Given the description of an element on the screen output the (x, y) to click on. 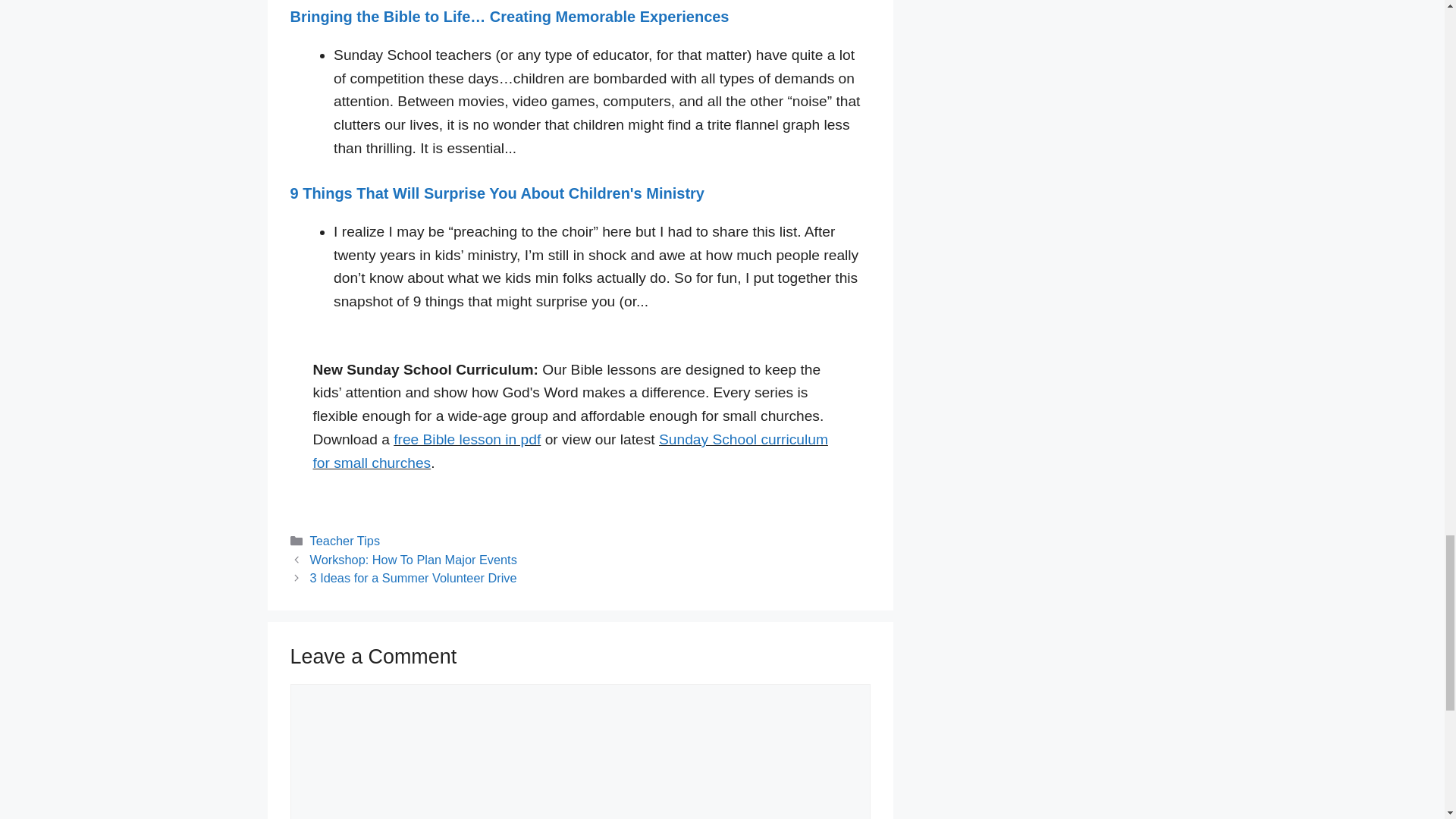
3 Ideas for a Summer Volunteer Drive (413, 577)
Sunday School curriculum for small churches (570, 450)
Workshop: How To Plan Major Events (413, 559)
9 Things That Will Surprise You About Children's Ministry (496, 193)
Teacher Tips (345, 540)
free Bible lesson in pdf (466, 439)
9 Things That Will Surprise You About Children's Ministry (496, 193)
